Given the description of an element on the screen output the (x, y) to click on. 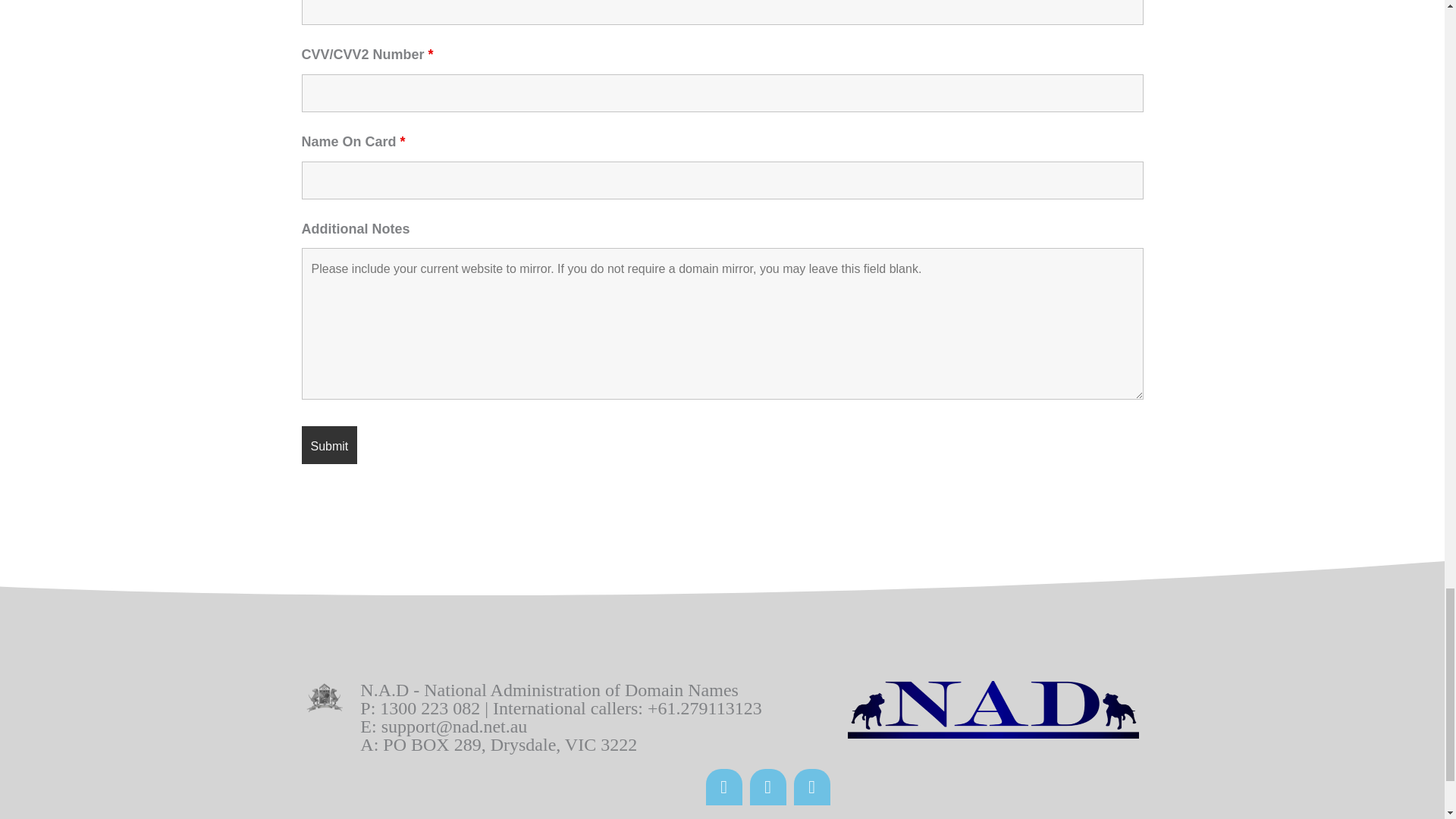
Submit (329, 444)
Submit (329, 444)
2019 34th Degree Logo (323, 699)
